Given the description of an element on the screen output the (x, y) to click on. 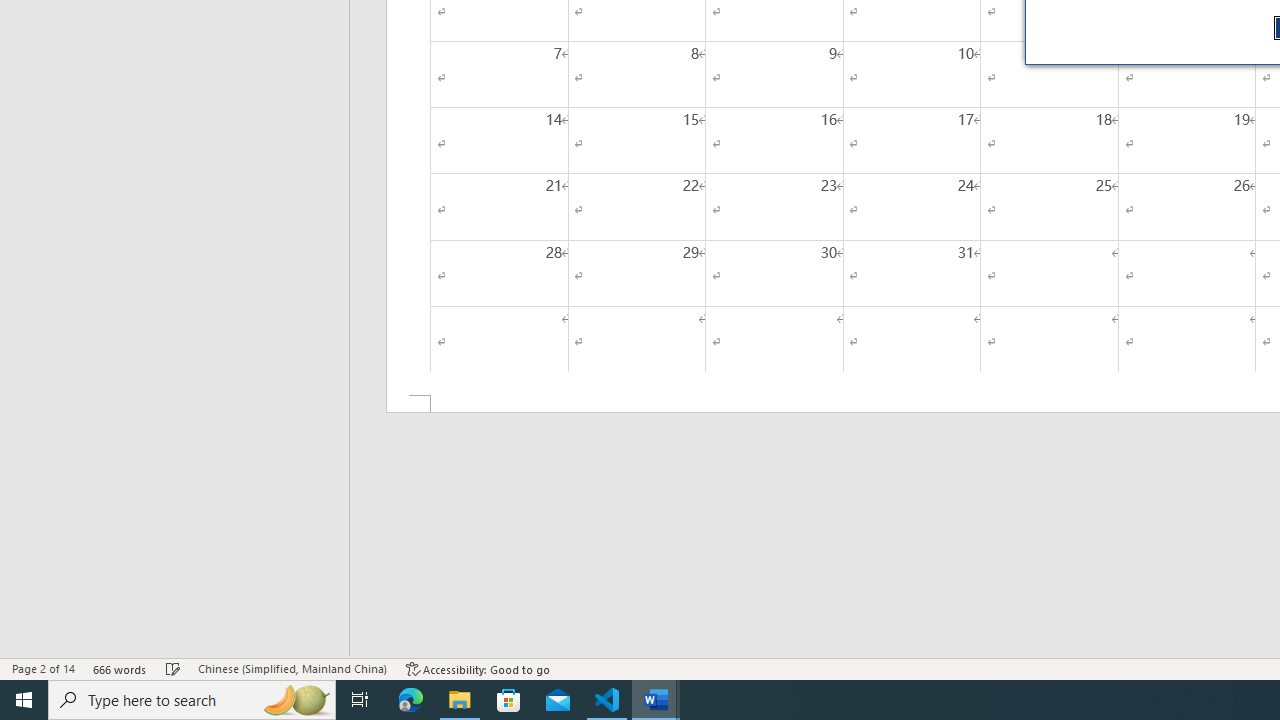
Word - 2 running windows (656, 699)
File Explorer - 1 running window (460, 699)
Search highlights icon opens search home window (295, 699)
Word Count 666 words (119, 668)
Visual Studio Code - 1 running window (607, 699)
Page Number Page 2 of 14 (43, 668)
Microsoft Store (509, 699)
Microsoft Edge (411, 699)
Task View (359, 699)
Start (24, 699)
